Given the description of an element on the screen output the (x, y) to click on. 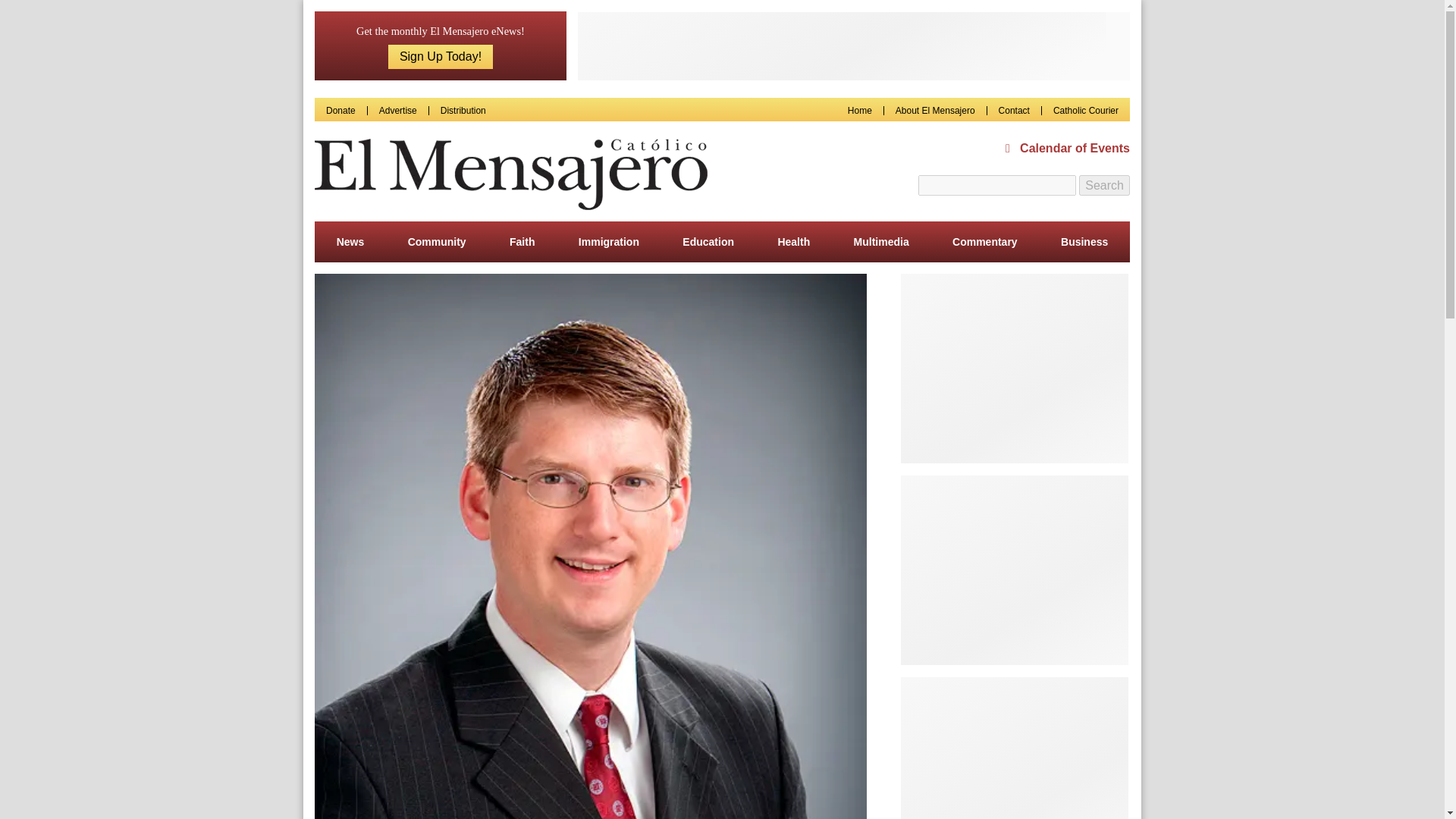
Nonprofits are important part of local social economy (590, 594)
Education (708, 241)
Community (436, 241)
Home (859, 110)
Contact (1013, 110)
Health (793, 241)
News (349, 241)
Business (1084, 241)
Distribution (463, 110)
Catholic Courier (1085, 110)
3rd party ad content (853, 46)
Search (1103, 185)
Advertise (397, 110)
3rd party ad content (1014, 368)
Multimedia (881, 241)
